Given the description of an element on the screen output the (x, y) to click on. 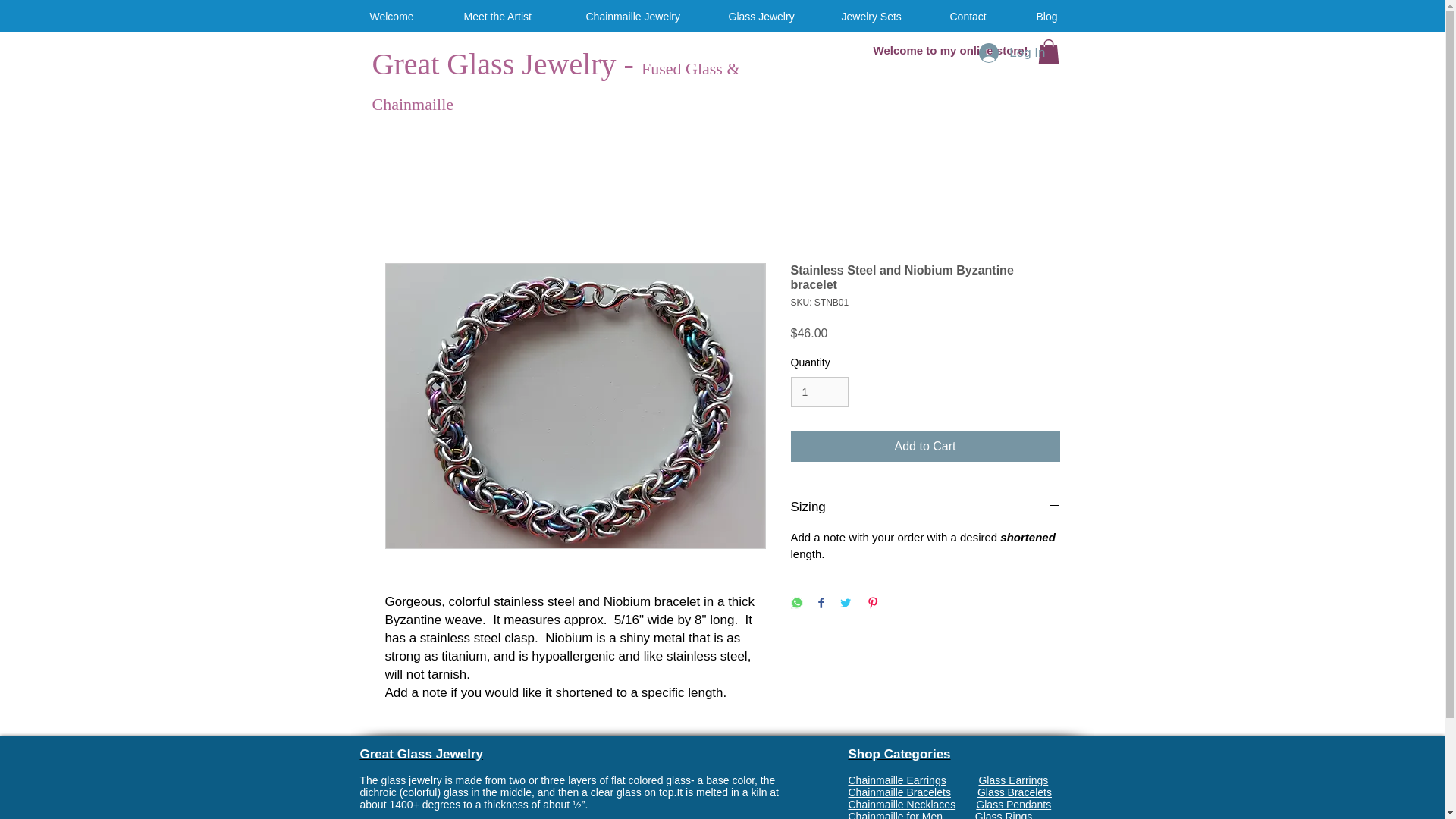
Glass Earrings (1013, 779)
Meet the Artist (505, 17)
Add to Cart (924, 446)
Sizing (924, 506)
Glass Pendants (1013, 804)
Jewelry Sets (876, 17)
Chainmaille Earrings (895, 779)
Chainmaille Bracelets (898, 792)
Chainmaille Necklace (898, 804)
Welcome (397, 17)
Blog (1052, 17)
Contact (974, 17)
Chainmaille for Men            (910, 814)
1 (818, 391)
Log In (1011, 52)
